Given the description of an element on the screen output the (x, y) to click on. 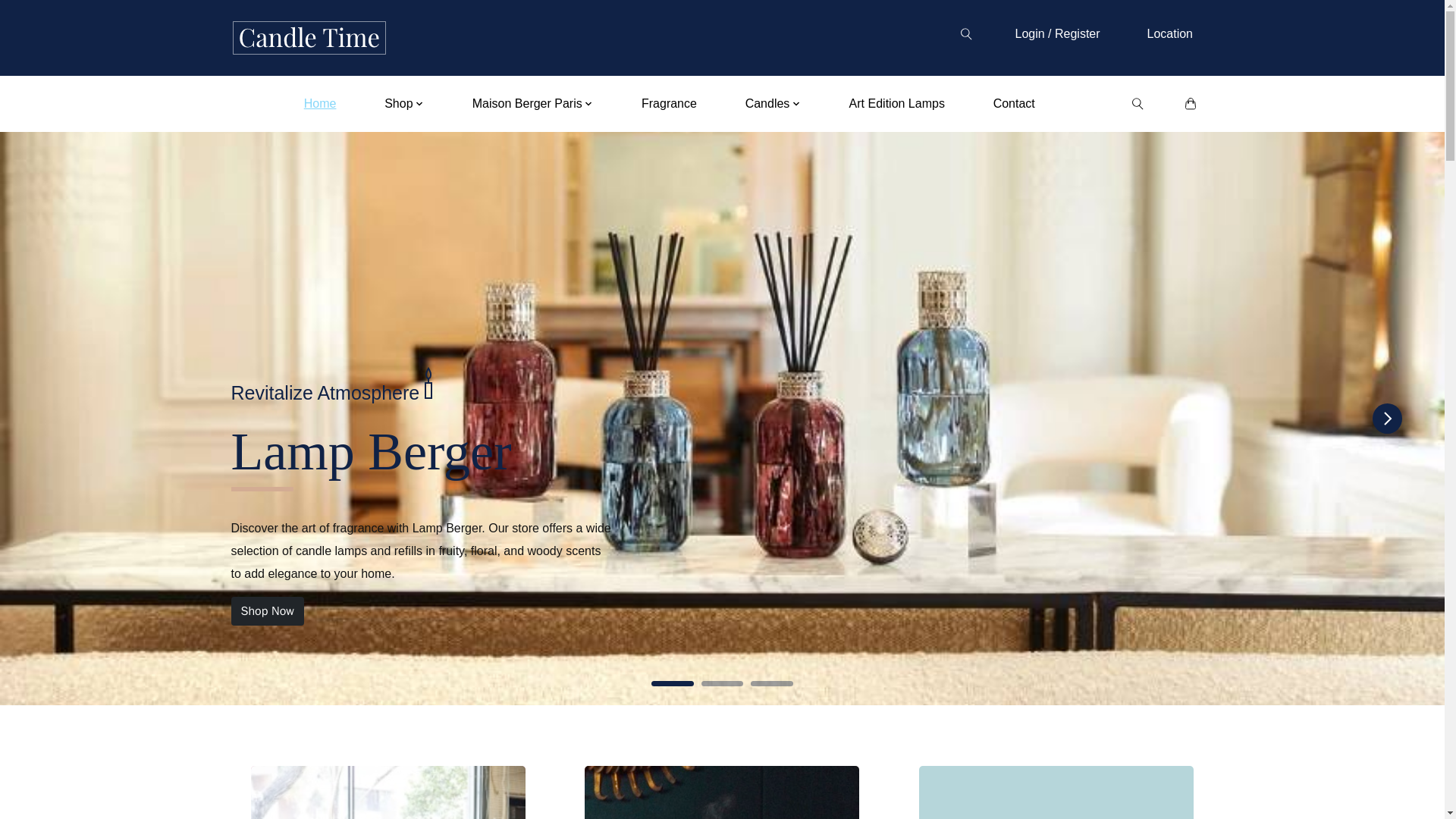
Home (320, 103)
Maison Berger Paris (531, 103)
Shop (403, 103)
Candles (772, 103)
CANDLE TIME (308, 38)
Art Edition Lamps (896, 103)
My account (1057, 33)
Fragrance (667, 103)
Location (1169, 33)
My account (1169, 33)
Contact (1014, 103)
